Given the description of an element on the screen output the (x, y) to click on. 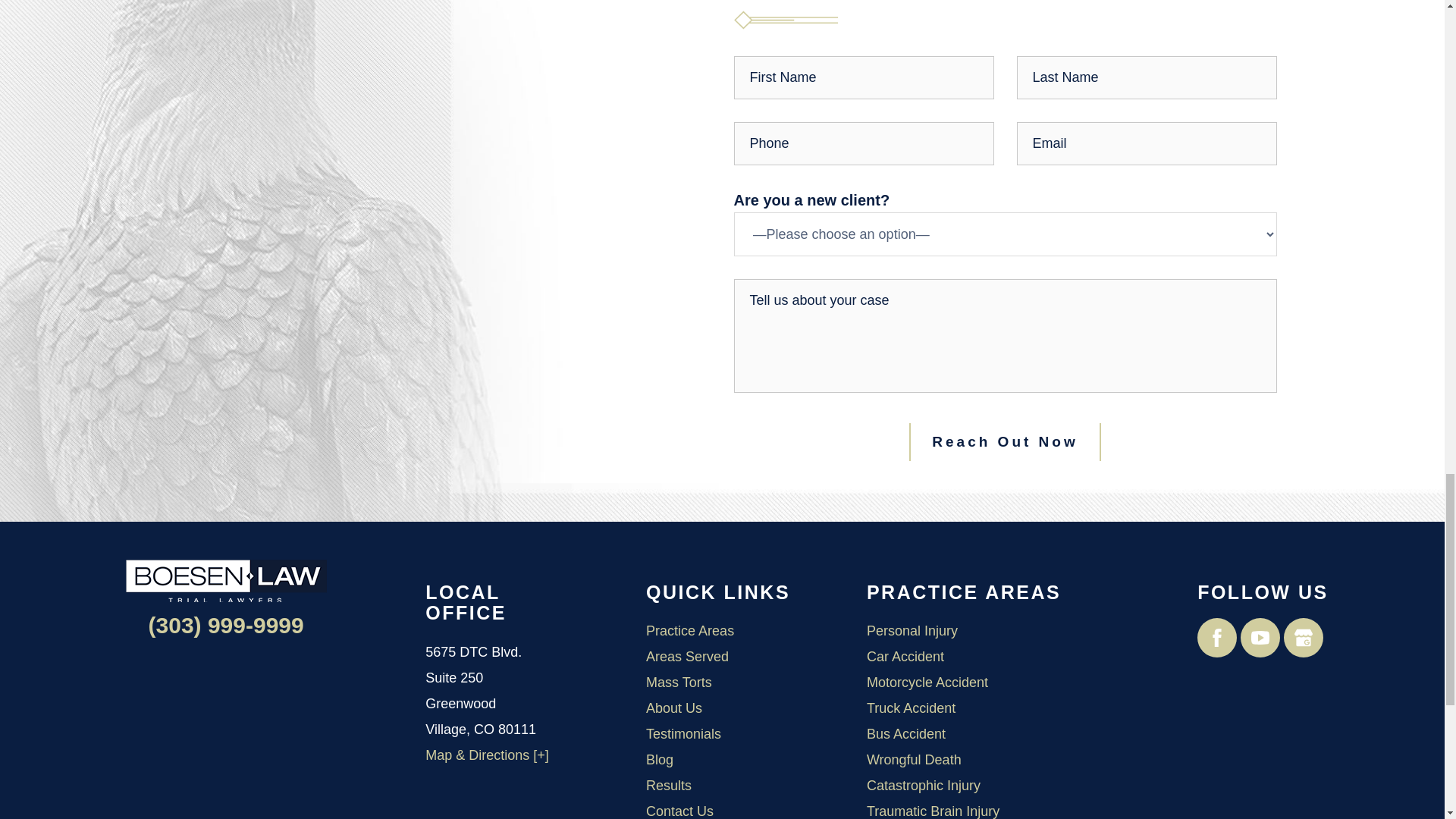
Main Line (226, 625)
